Given the description of an element on the screen output the (x, y) to click on. 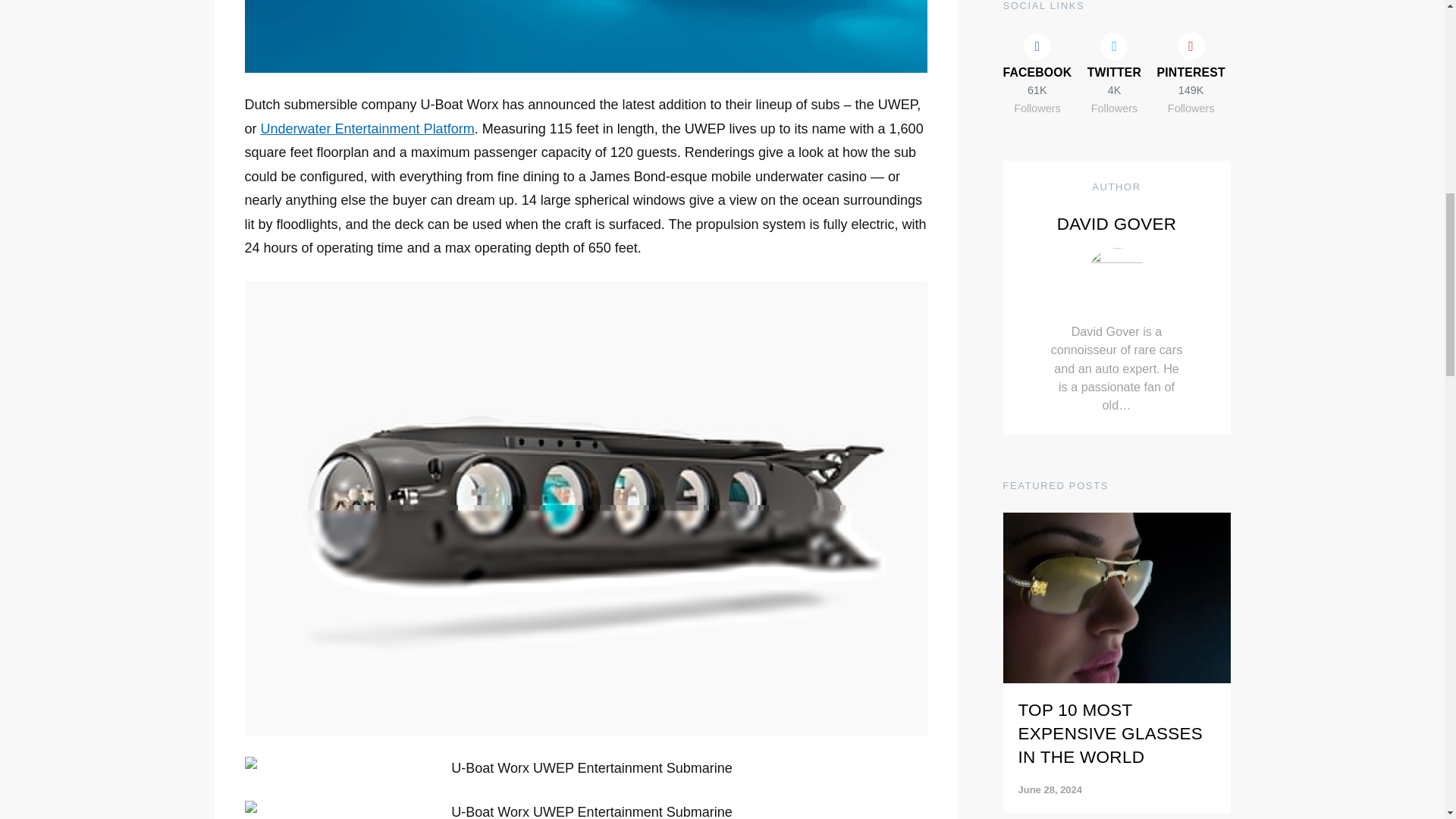
U-Boat Worx UWEP Entertainment Submarine (585, 809)
Top 10 Most Expensive Glasses in the World (1109, 110)
Art of Marc Chagall: 10 Famous Artworks by the Great Artist (1112, 775)
Art of Marc Chagall: 10 Famous Artworks by the Great Artist (1116, 629)
U-Boat Worx UWEP Entertainment Submarine (585, 36)
U-Boat Worx UWEP Entertainment Submarine (585, 768)
TOP 10 MOST EXPENSIVE GLASSES IN THE WORLD (1109, 110)
10 Most Popular Earring Shapes: This Season Trends (1116, 302)
Underwater Entertainment Platform (367, 128)
Top 10 Most Expensive Glasses in the World (1116, 30)
10 Most Popular Earring Shapes: This Season Trends (1114, 438)
